Given the description of an element on the screen output the (x, y) to click on. 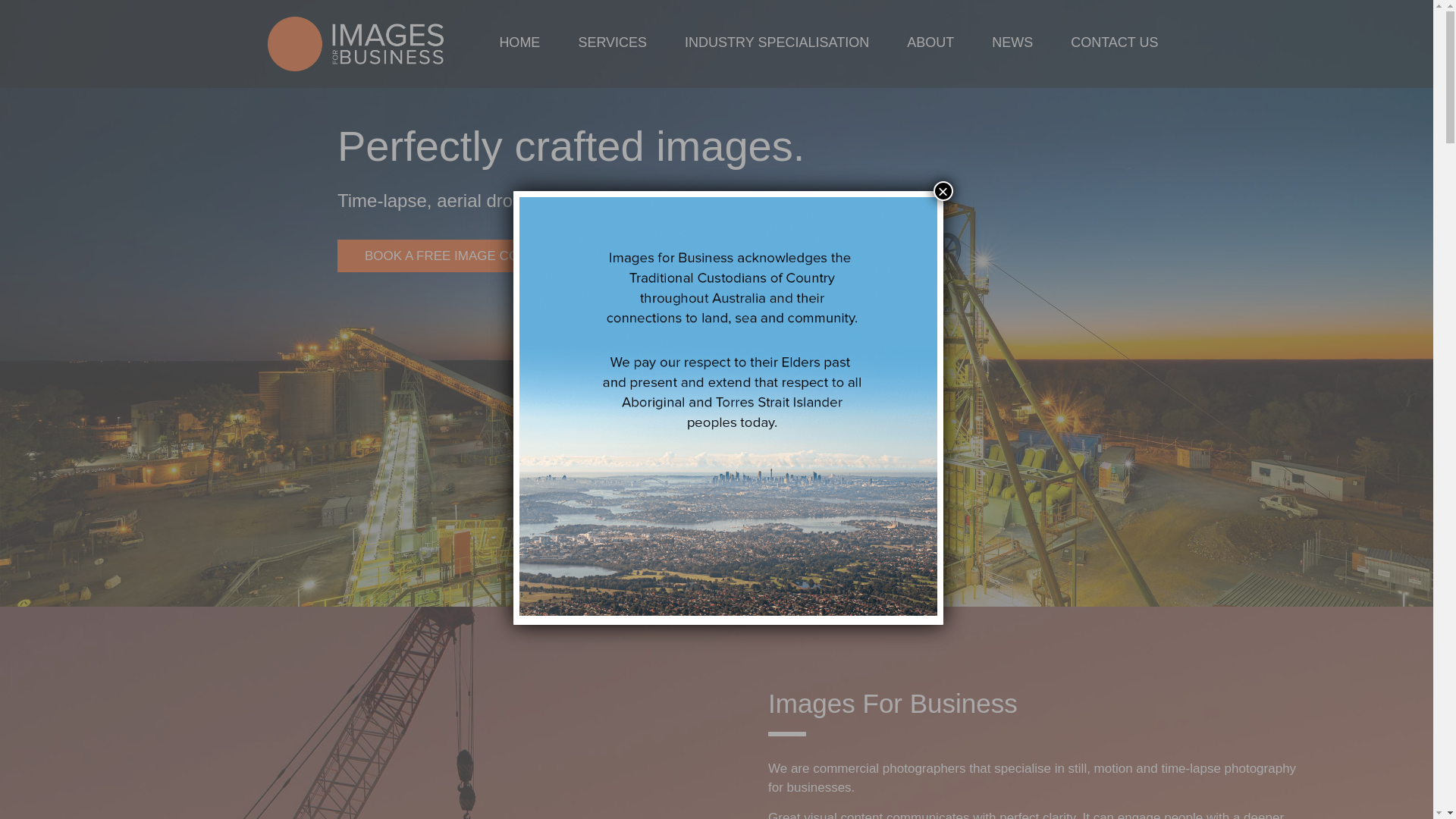
INDUSTRY SPECIALISATION Element type: text (776, 43)
NEWS Element type: text (1011, 43)
CONTACT US Element type: text (1113, 43)
HOME Element type: text (519, 43)
ABOUT Element type: text (930, 43)
SERVICES Element type: text (611, 43)
